Given the description of an element on the screen output the (x, y) to click on. 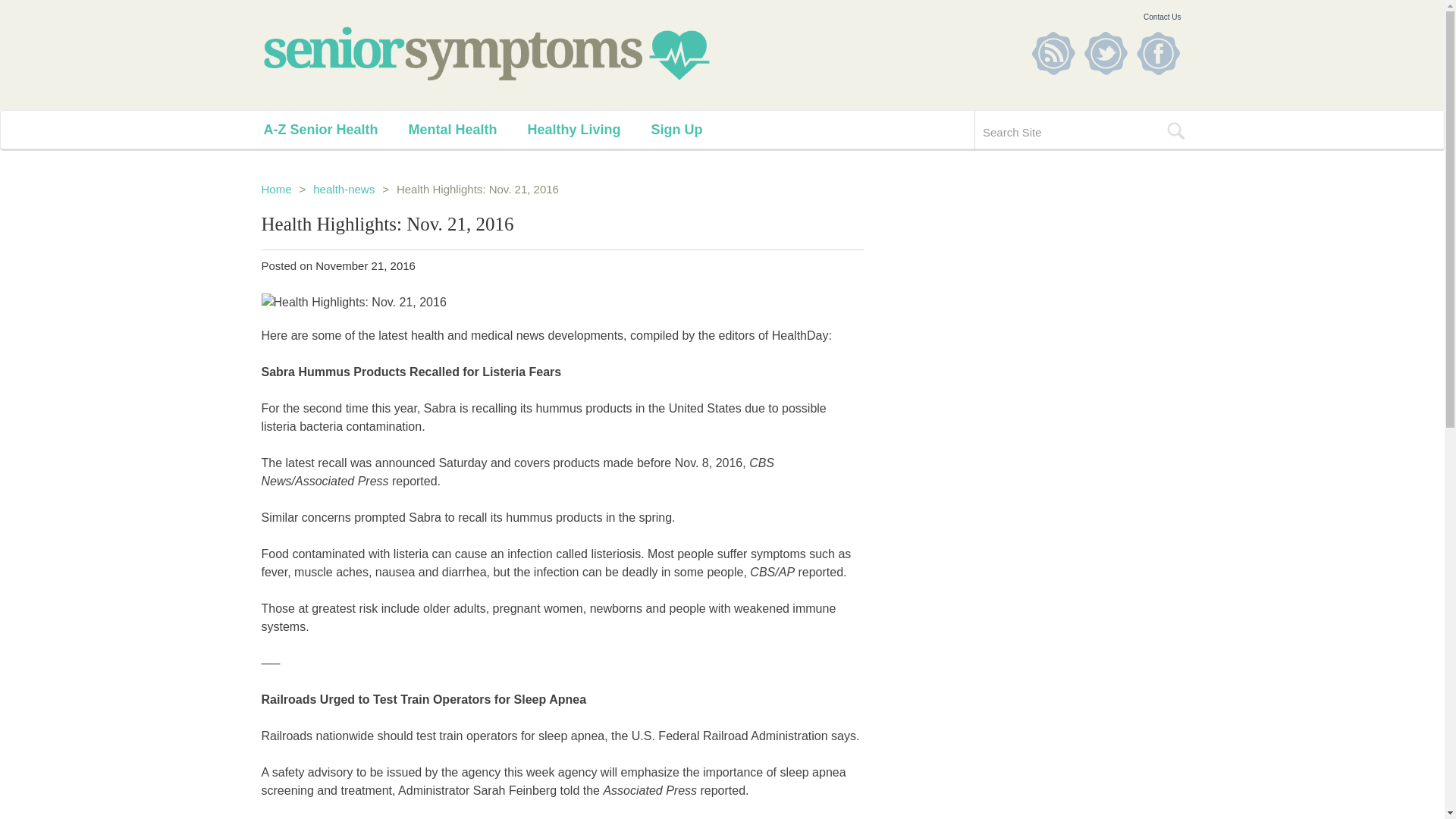
Health Highlights: Nov. 21, 2016 (561, 302)
Facebook (1157, 53)
Mental Health (468, 129)
A-Z Senior Health (336, 129)
RSS (1052, 53)
Home (275, 188)
Contact Us (1161, 17)
Twitter (1106, 53)
Sign Up (691, 129)
Healthy Living (588, 129)
